Given the description of an element on the screen output the (x, y) to click on. 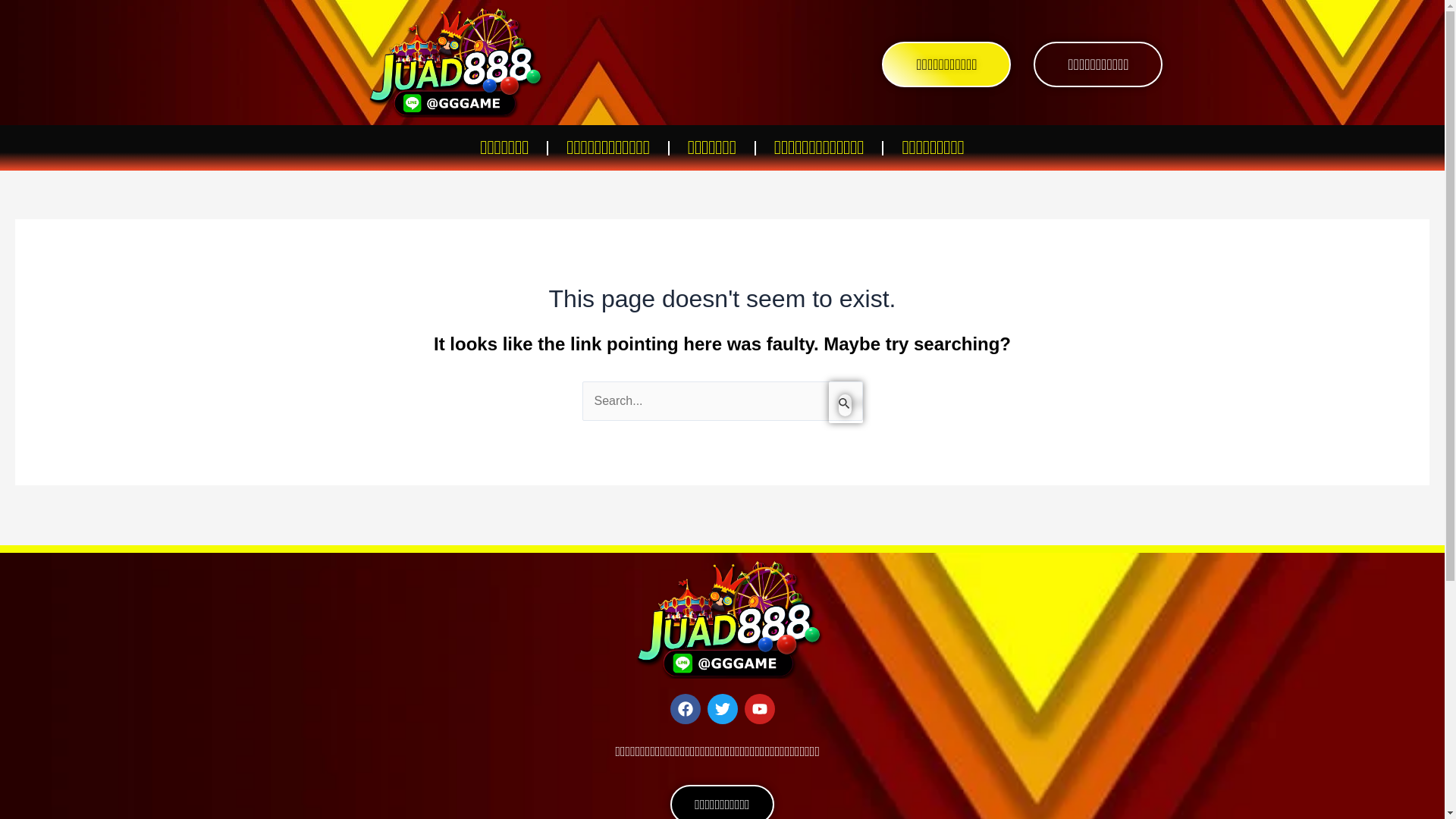
Youtube (759, 708)
Facebook (684, 708)
Twitter (721, 708)
